Given the description of an element on the screen output the (x, y) to click on. 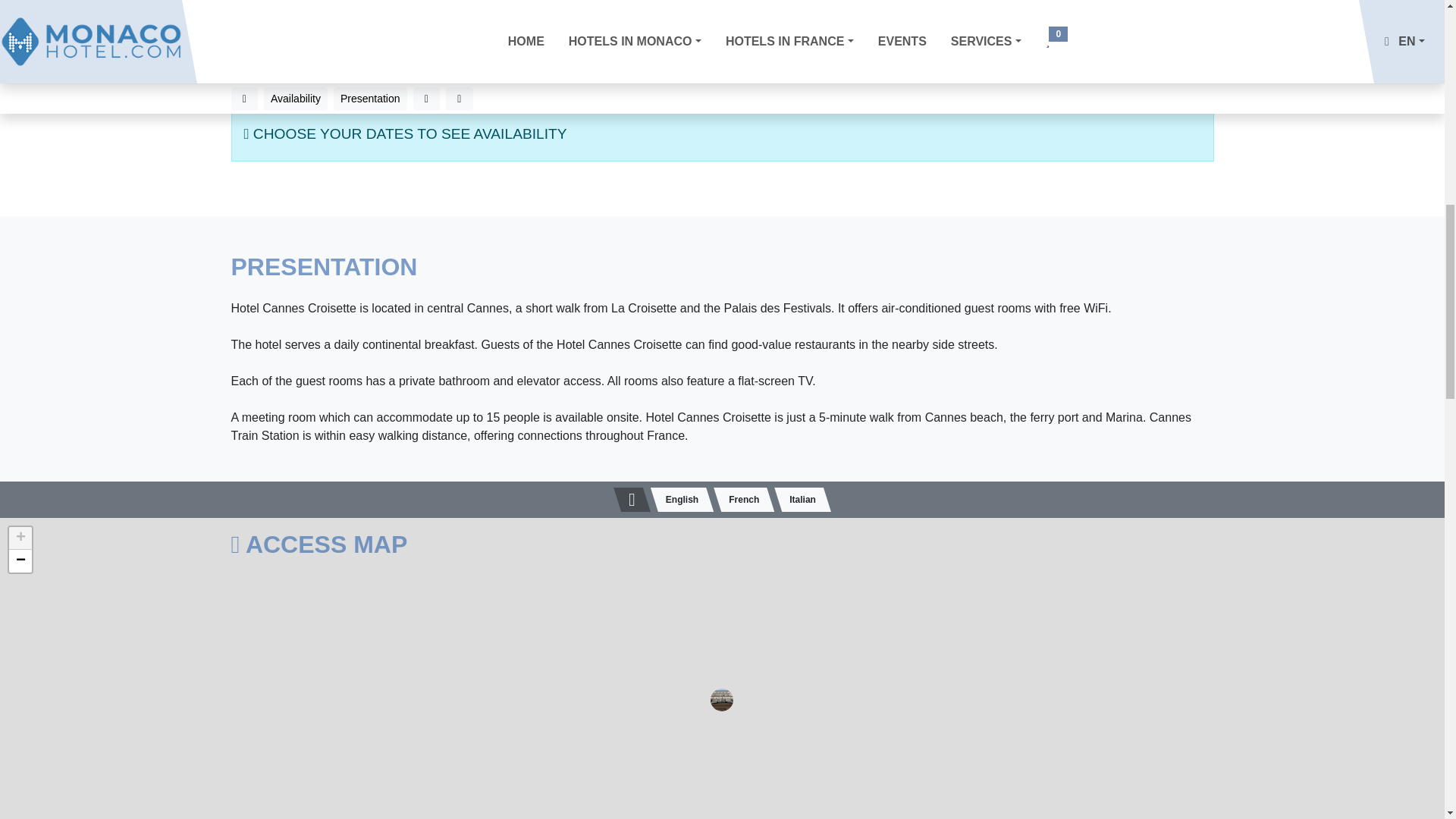
1 (741, 91)
mardi (297, 151)
Italian (802, 499)
Zoom in (20, 538)
lundi (264, 151)
dimanche (457, 151)
English (681, 499)
vendredi (393, 151)
Spoken languages (631, 499)
0 (657, 153)
2 (657, 123)
samedi (425, 151)
jeudi (361, 151)
French (743, 499)
mercredi (329, 151)
